Given the description of an element on the screen output the (x, y) to click on. 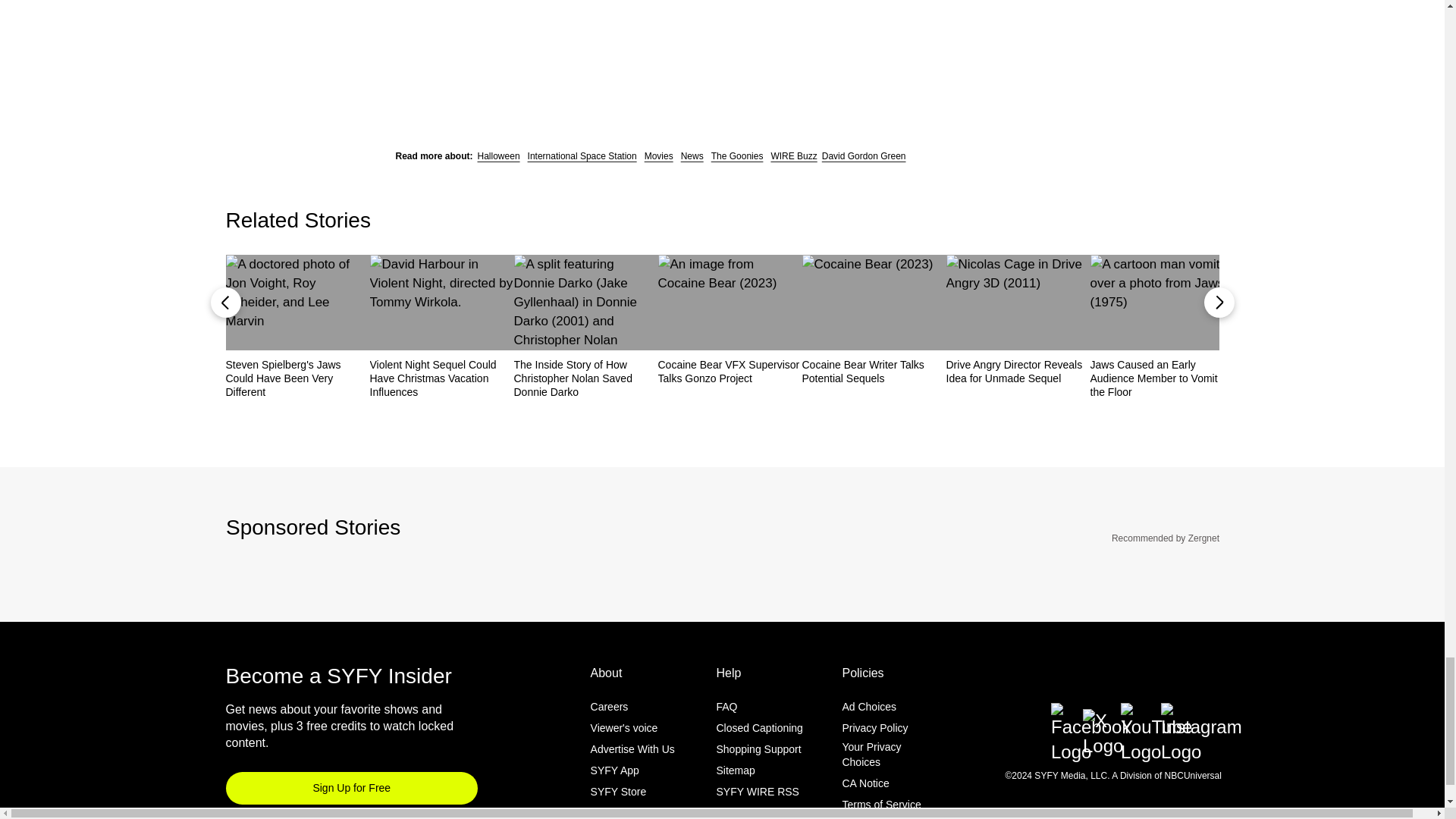
Halloween (498, 154)
